Given the description of an element on the screen output the (x, y) to click on. 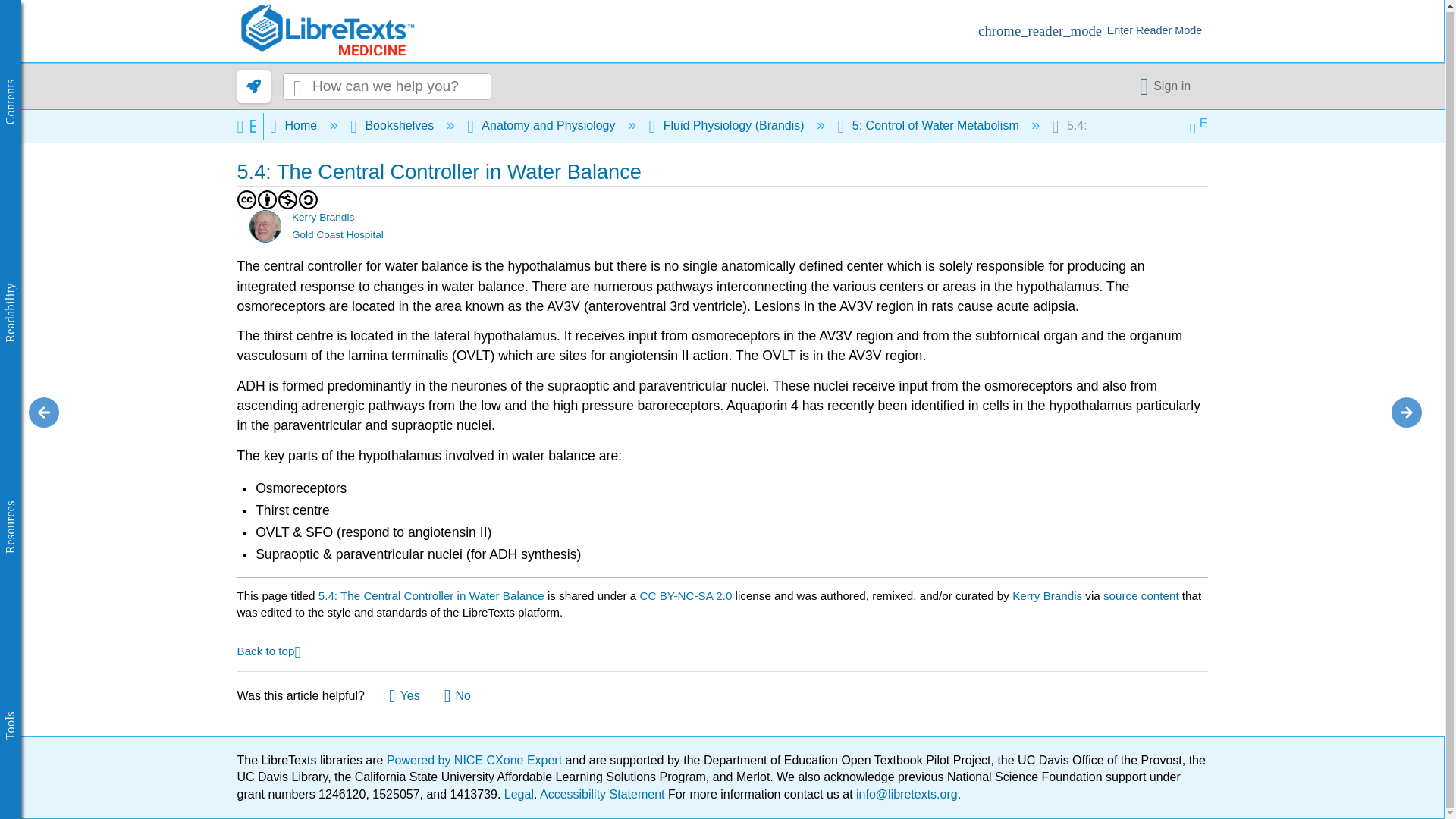
BY (267, 199)
SA (307, 199)
NC (288, 199)
Single Sign-On (1167, 86)
CC (246, 199)
Kerry Brandis (265, 225)
Jump back to top of this article (267, 650)
